Given the description of an element on the screen output the (x, y) to click on. 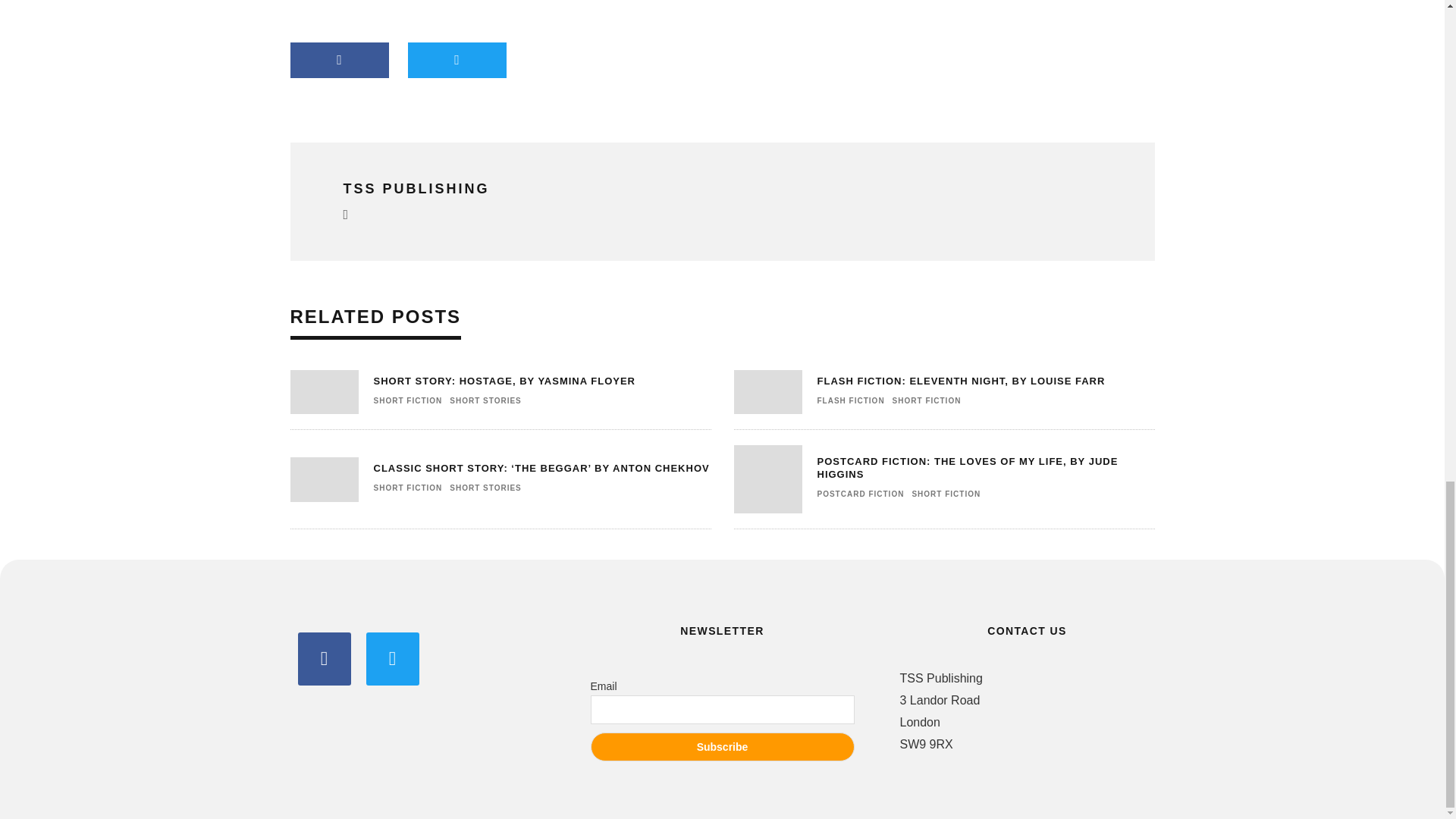
Subscribe (721, 746)
